Given the description of an element on the screen output the (x, y) to click on. 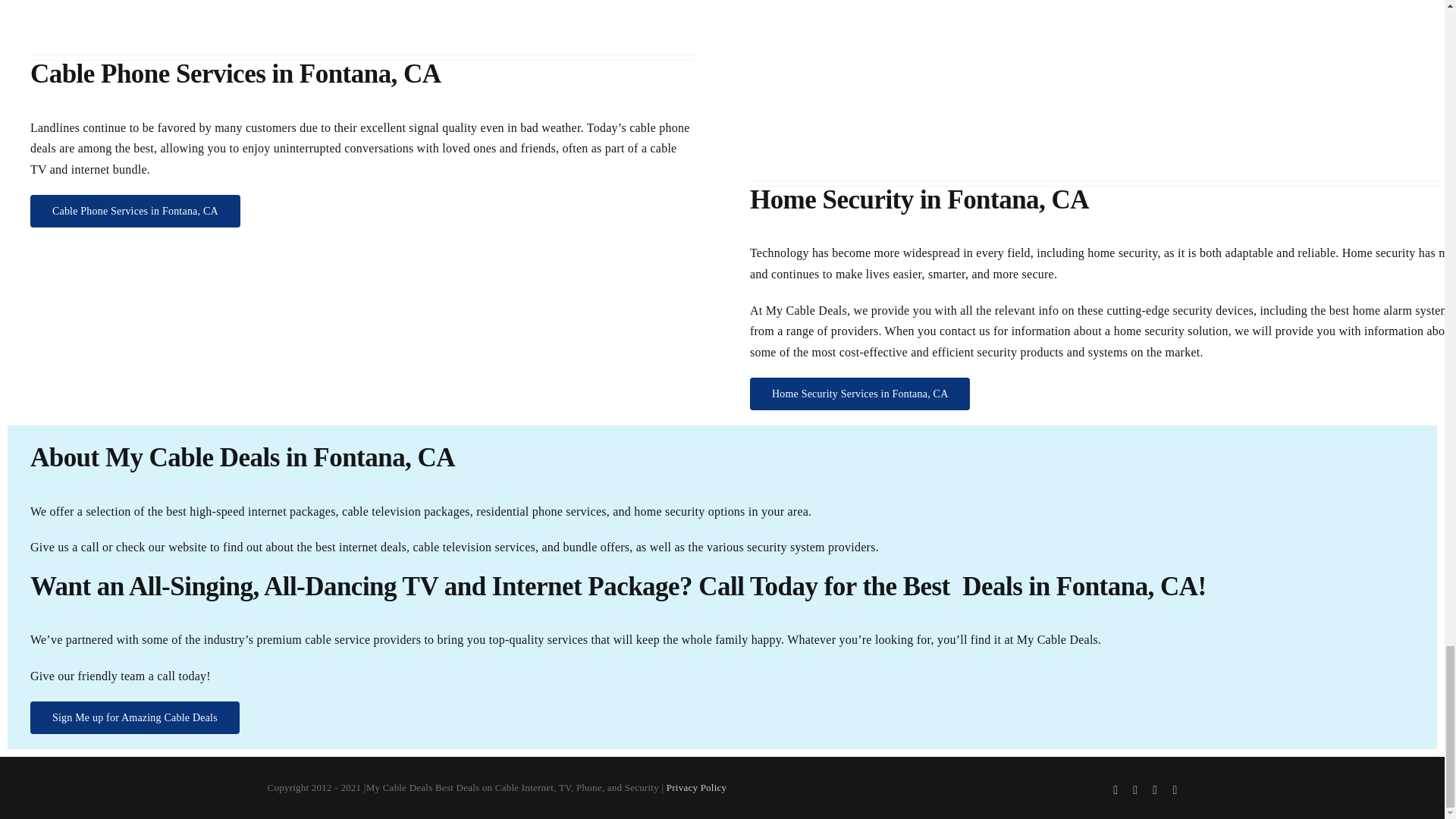
call today! (184, 675)
Home Security Services in Fontana, CA (860, 393)
Privacy Policy (696, 787)
Sign Me up for Amazing Cable Deals (135, 717)
Cable Phone Services in Fontana, CA (135, 210)
Home Phone (362, 23)
